Given the description of an element on the screen output the (x, y) to click on. 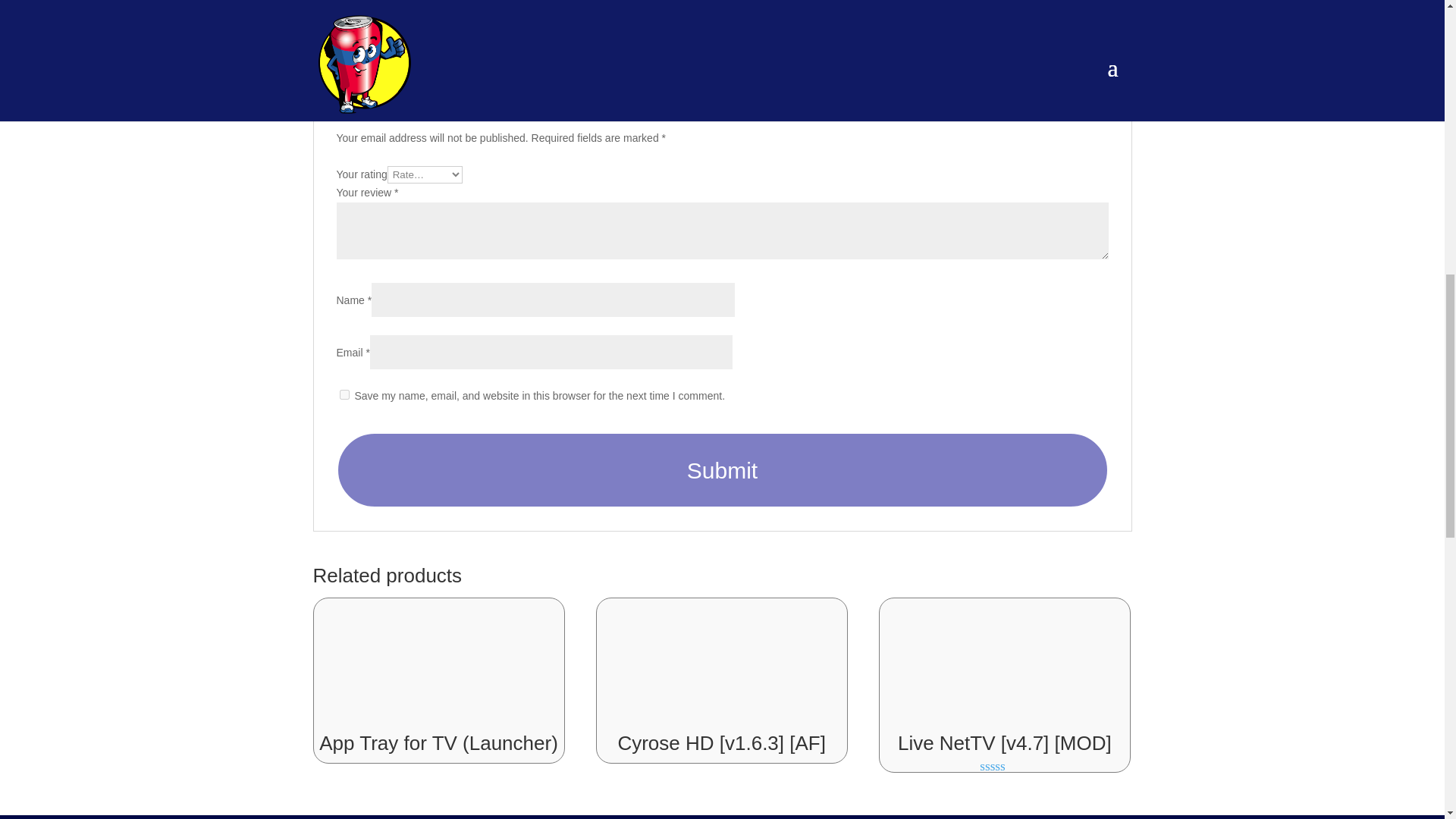
Submit (722, 469)
1 (459, 116)
yes (344, 394)
Login with Google (722, 82)
